Given the description of an element on the screen output the (x, y) to click on. 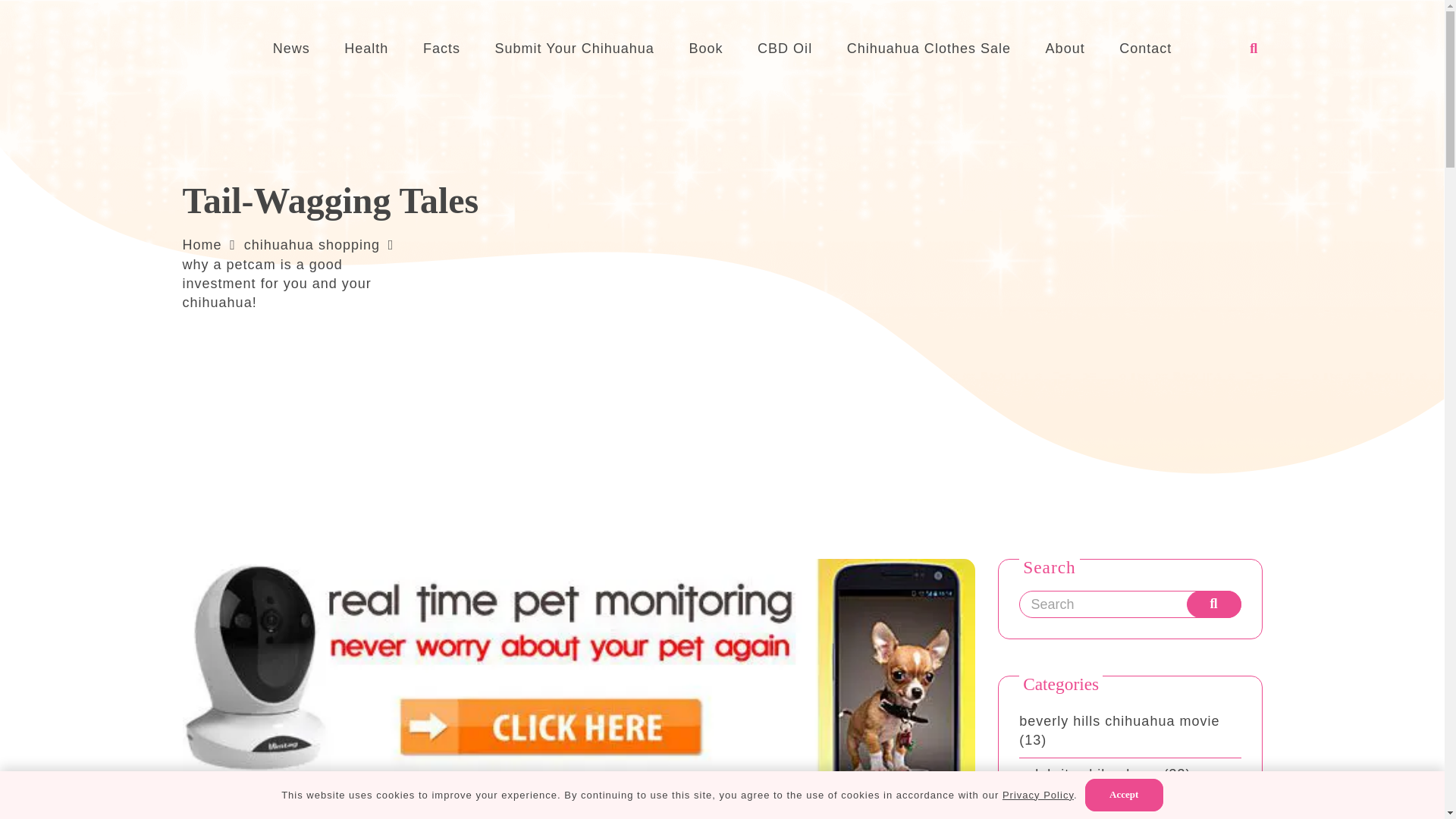
CBD Oil (784, 48)
About (1064, 48)
Home (201, 244)
beverly hills chihuahua movie (1119, 720)
Chihuahua Health (366, 48)
Chihuahua News (291, 48)
Chihuahua Facts (441, 48)
chihuahua books (1076, 807)
Chihuahua Clothes Sale (928, 48)
Chihuahua Clothes Sale (928, 48)
celebrity chihuahuas (1088, 774)
Submit Your Chihuahua (575, 48)
Nadia (232, 814)
Chihuahua Book (705, 48)
